Given the description of an element on the screen output the (x, y) to click on. 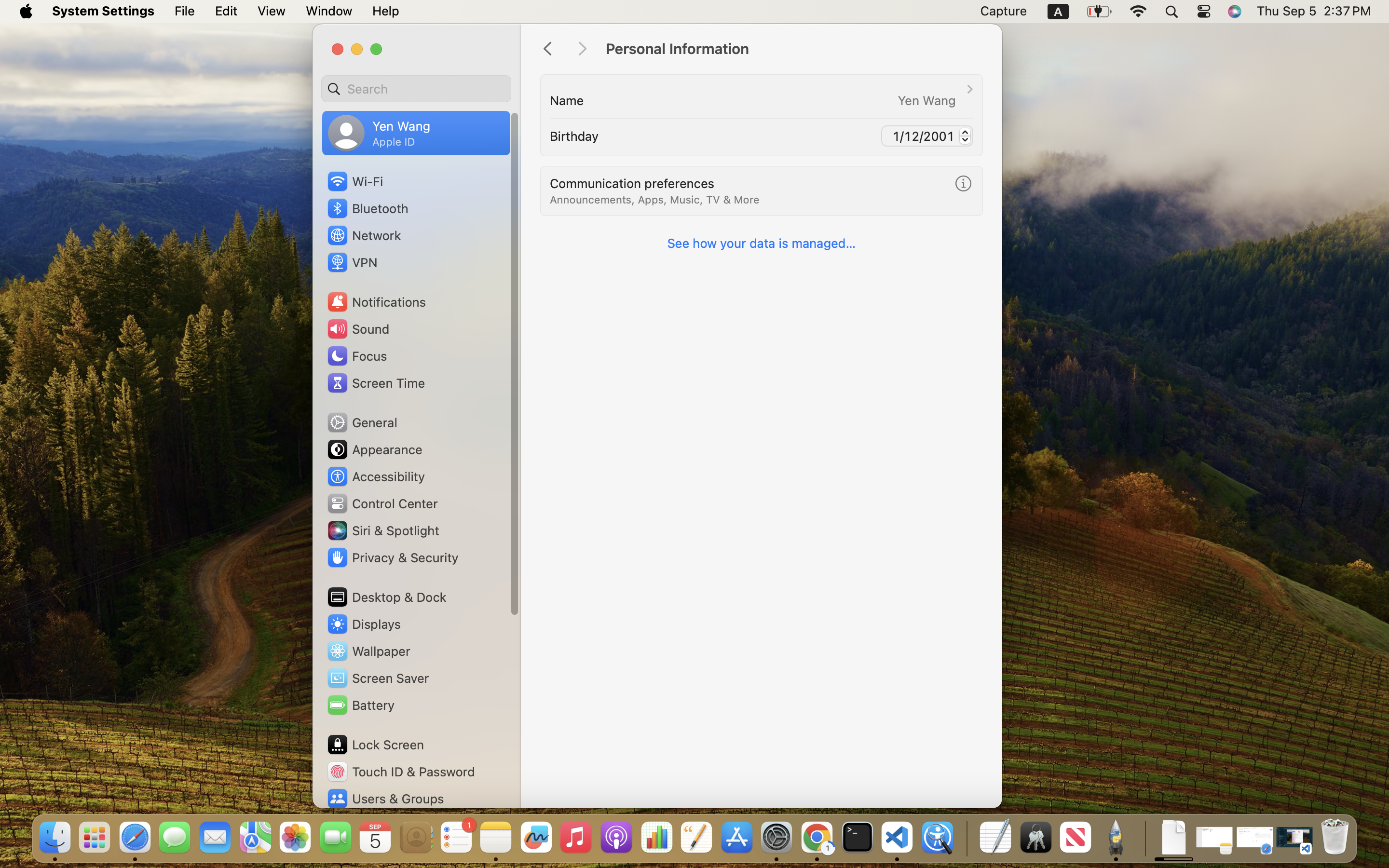
General Element type: AXStaticText (361, 422)
Personal Information Element type: AXStaticText (793, 49)
Control Center Element type: AXStaticText (381, 503)
0.5 Element type: AXIncrementor (965, 135)
Displays Element type: AXStaticText (363, 623)
